Given the description of an element on the screen output the (x, y) to click on. 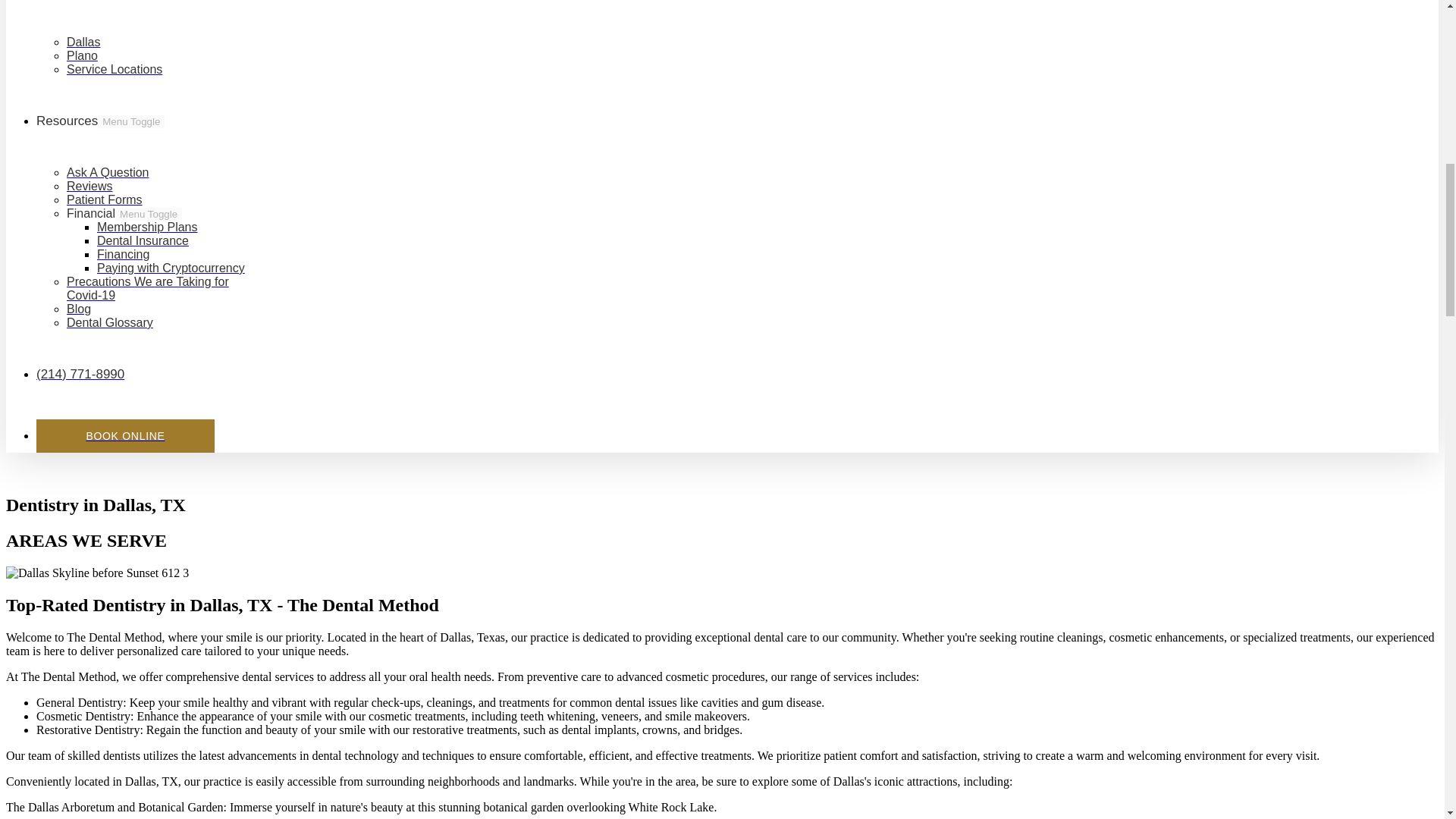
Dallas Skyline before Sunset 612 3 (97, 572)
